Given the description of an element on the screen output the (x, y) to click on. 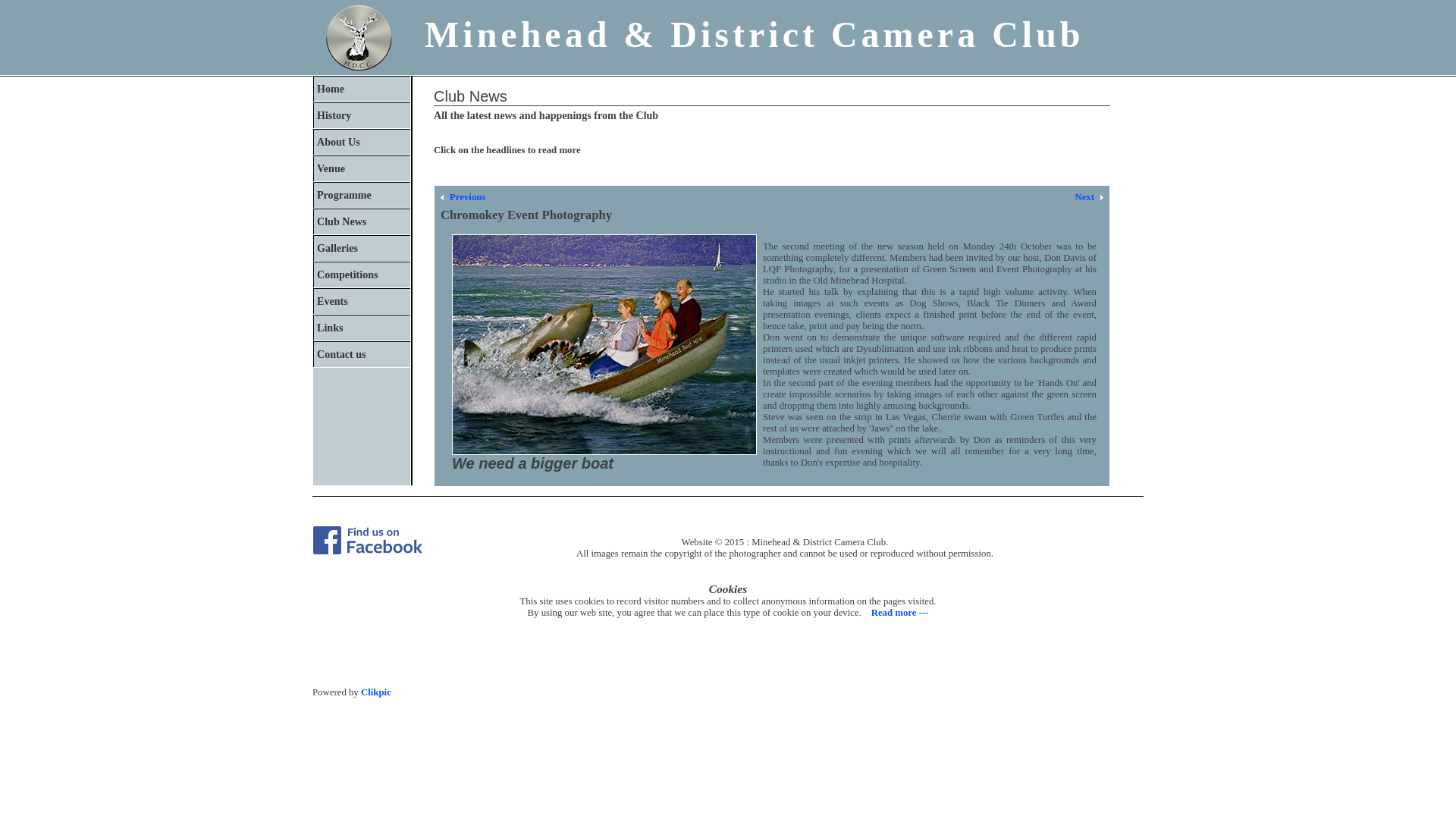
Previous (462, 197)
Events (361, 300)
Home (361, 88)
Programme (361, 194)
Venue (361, 167)
Galleries (361, 248)
Read more --- (897, 612)
Contact us (361, 353)
Links (361, 327)
Clikpic (376, 692)
About Us (361, 141)
Next (1088, 197)
Club News (361, 221)
History (361, 114)
Competitions (361, 274)
